Given the description of an element on the screen output the (x, y) to click on. 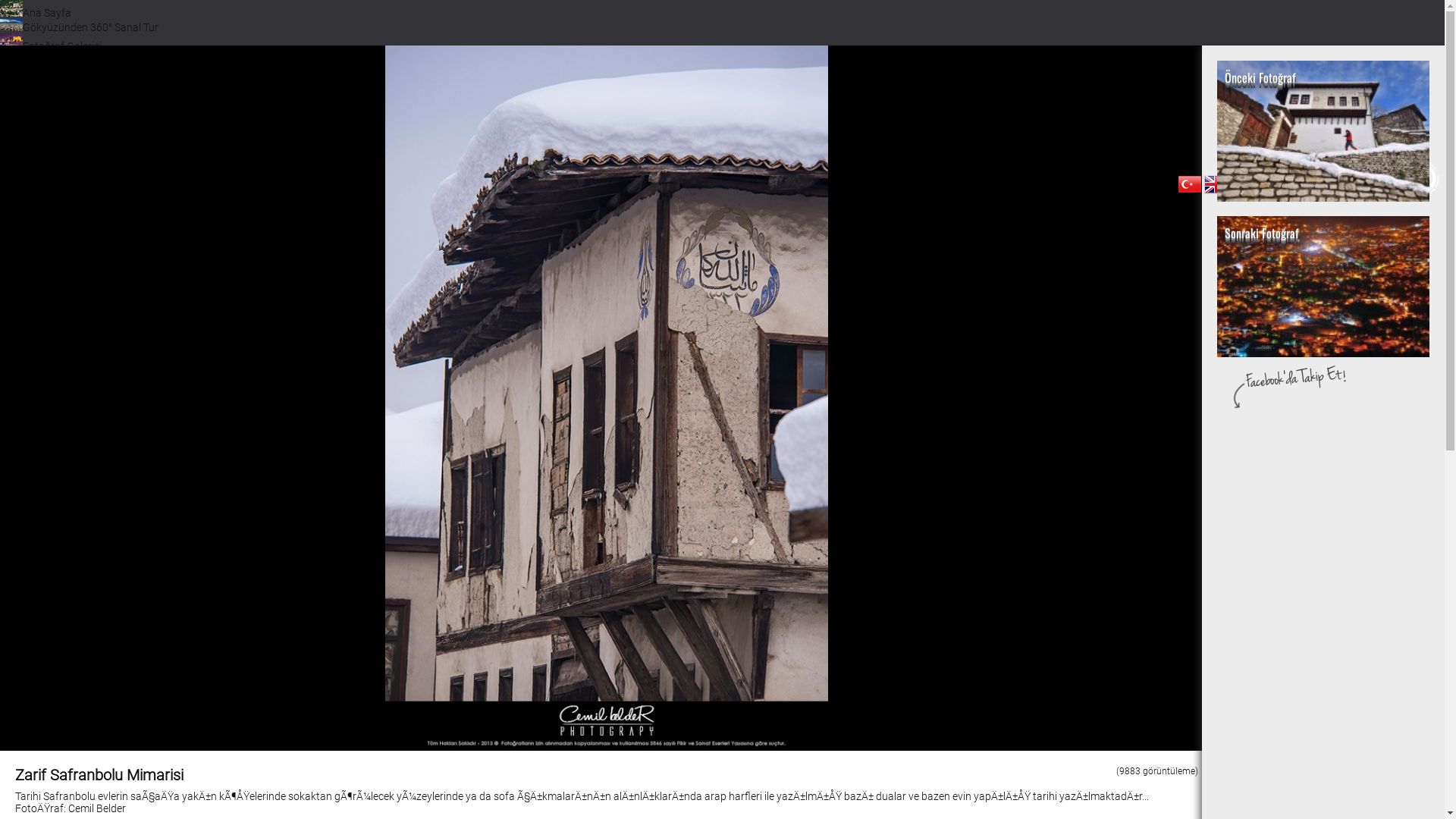
Ana Sayfa Element type: text (35, 12)
